Given the description of an element on the screen output the (x, y) to click on. 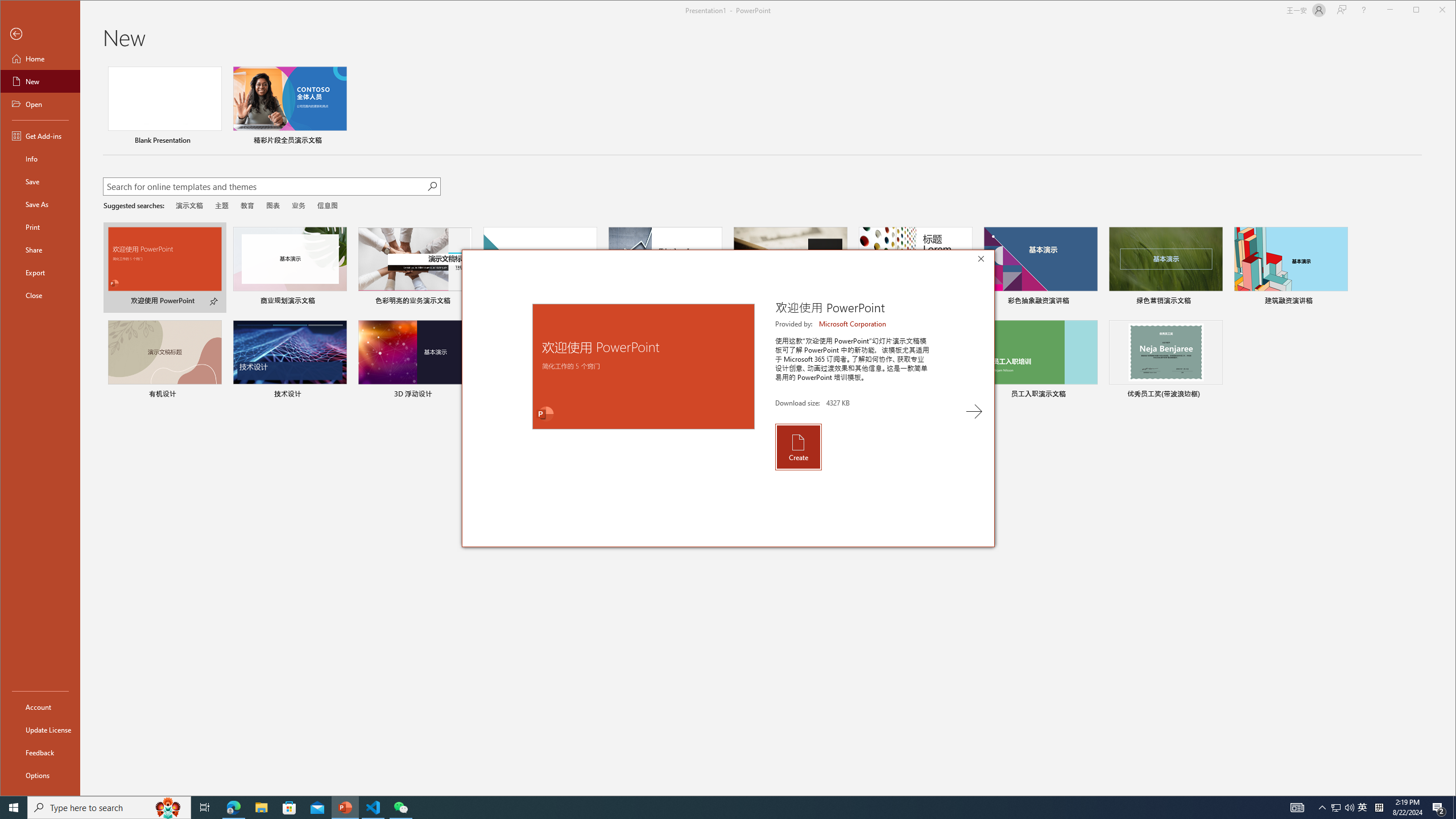
File Explorer (261, 807)
Blank Presentation (164, 107)
